Given the description of an element on the screen output the (x, y) to click on. 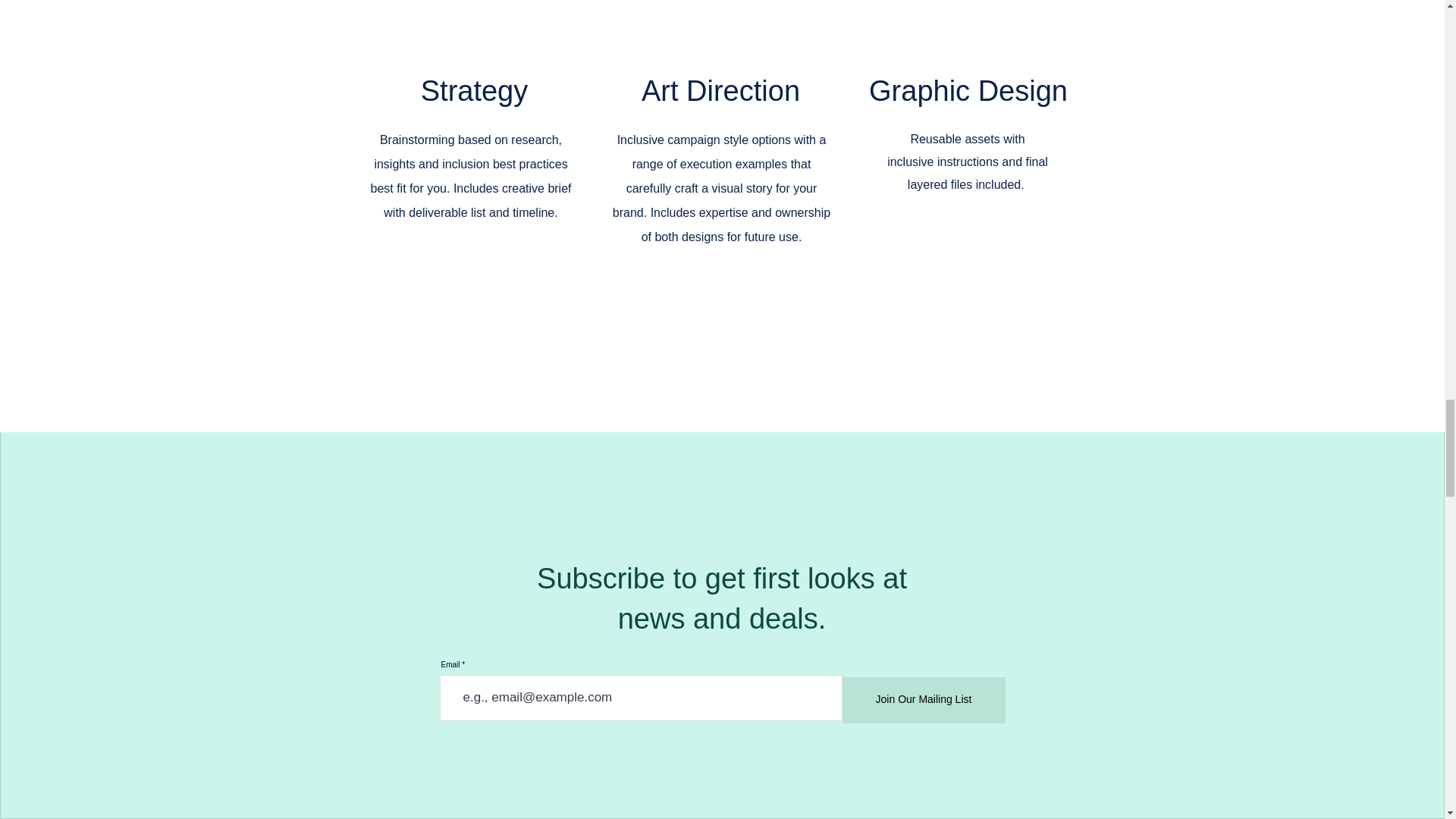
Join Our Mailing List (922, 700)
